Given the description of an element on the screen output the (x, y) to click on. 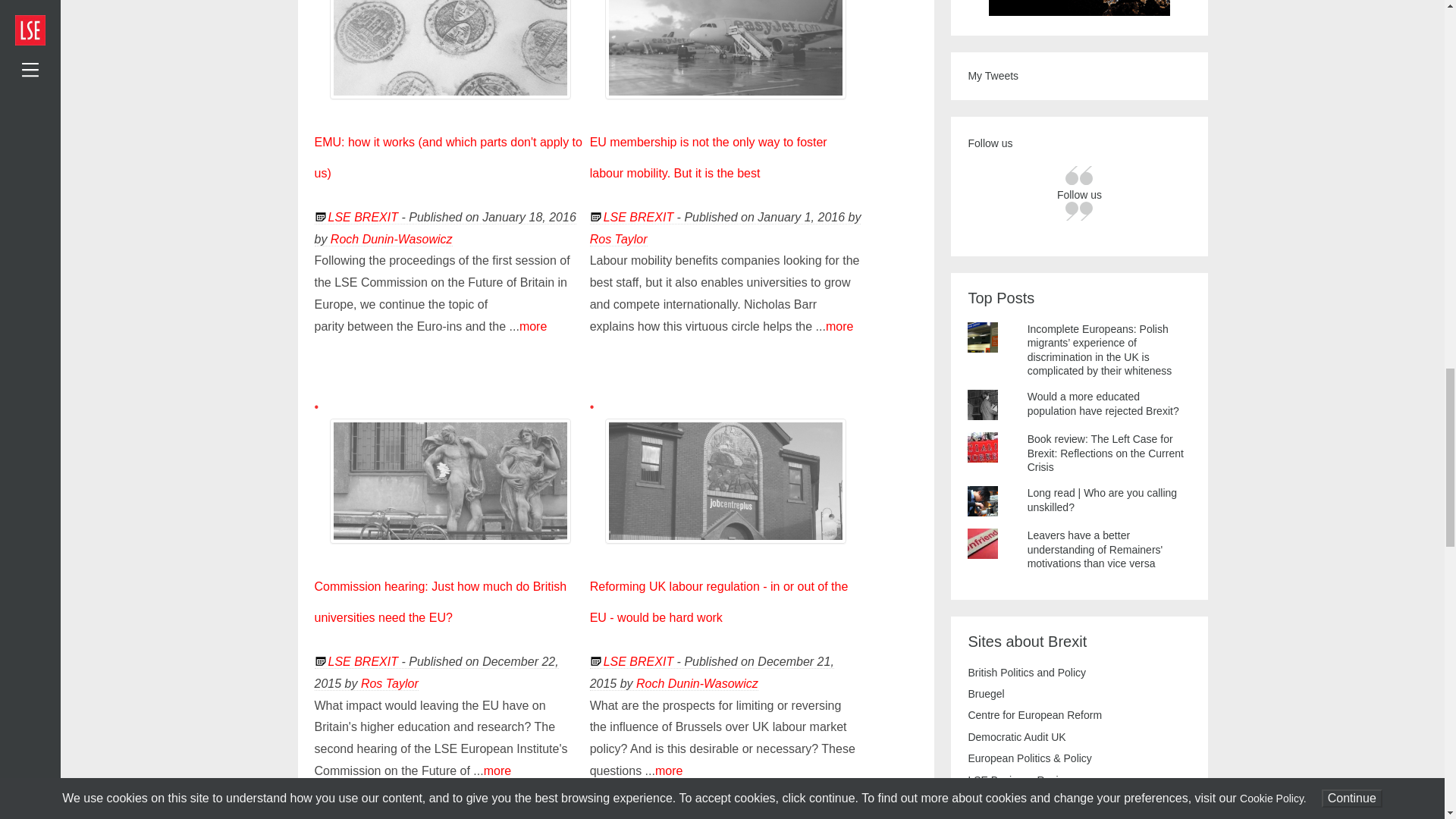
LSE BREXIT (362, 216)
more (533, 326)
Roch Dunin-Wasowicz (391, 237)
